Given the description of an element on the screen output the (x, y) to click on. 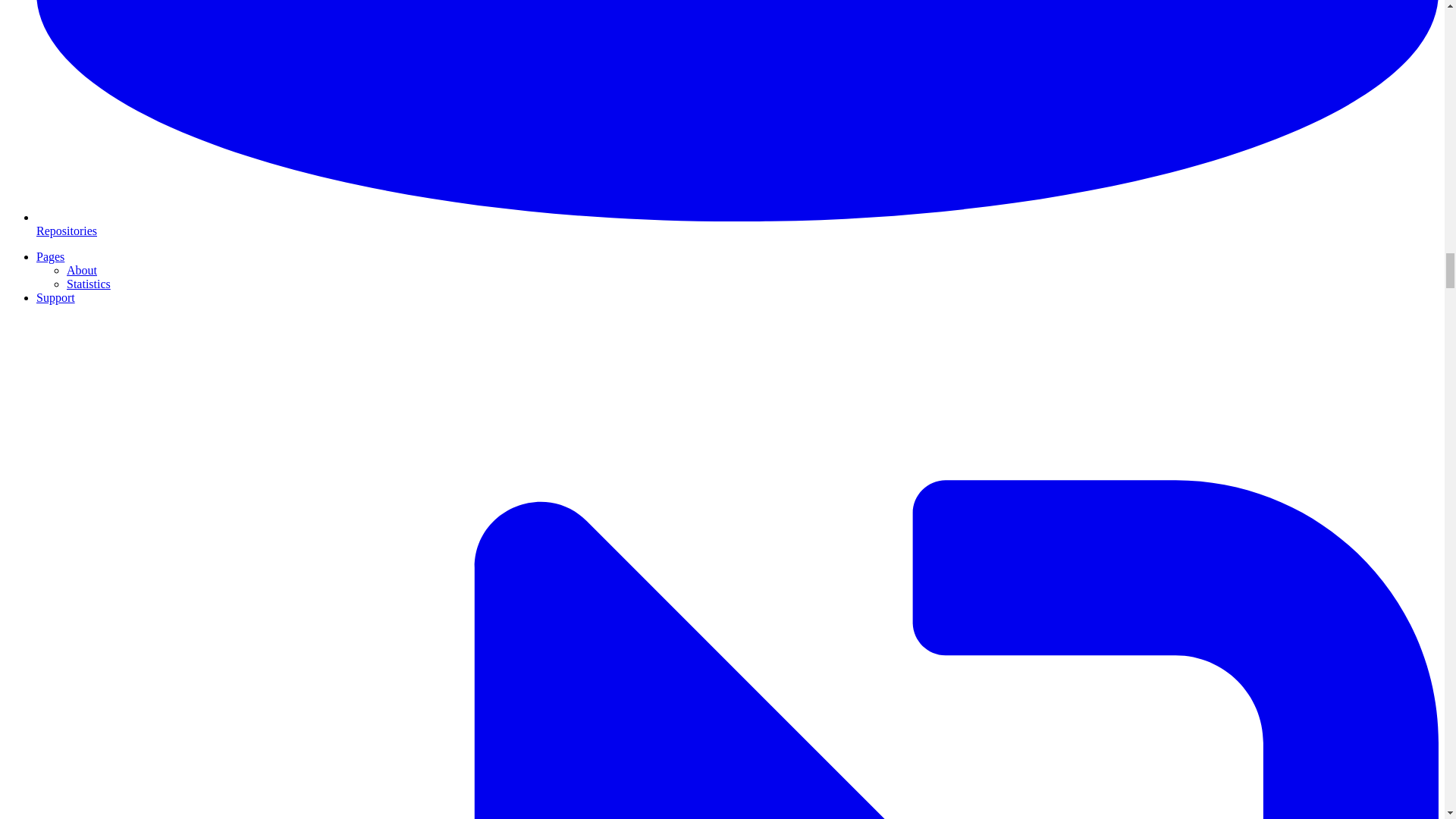
Support (55, 297)
Statistics (88, 283)
About (81, 269)
Pages (50, 256)
